Given the description of an element on the screen output the (x, y) to click on. 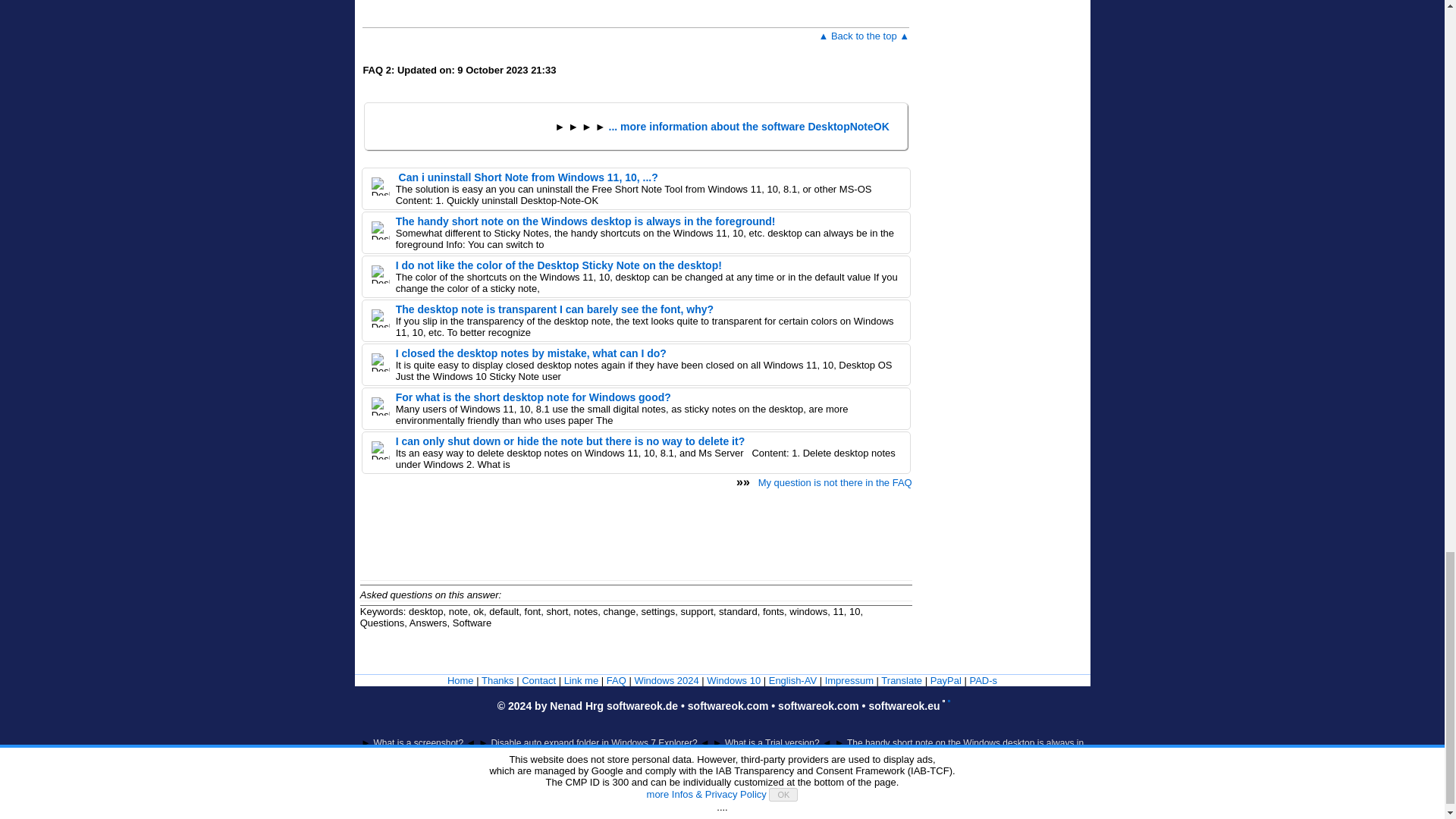
I closed the desktop notes by mistake, what can I do? (531, 353)
For what is the short desktop note for Windows good? (533, 397)
... more information about the software DesktopNoteOK (748, 126)
Tips for Windows 11 (665, 680)
Tips for Windows 10 (733, 680)
 Can i uninstall Short Note from Windows 11, 10, ...? (527, 177)
